Given the description of an element on the screen output the (x, y) to click on. 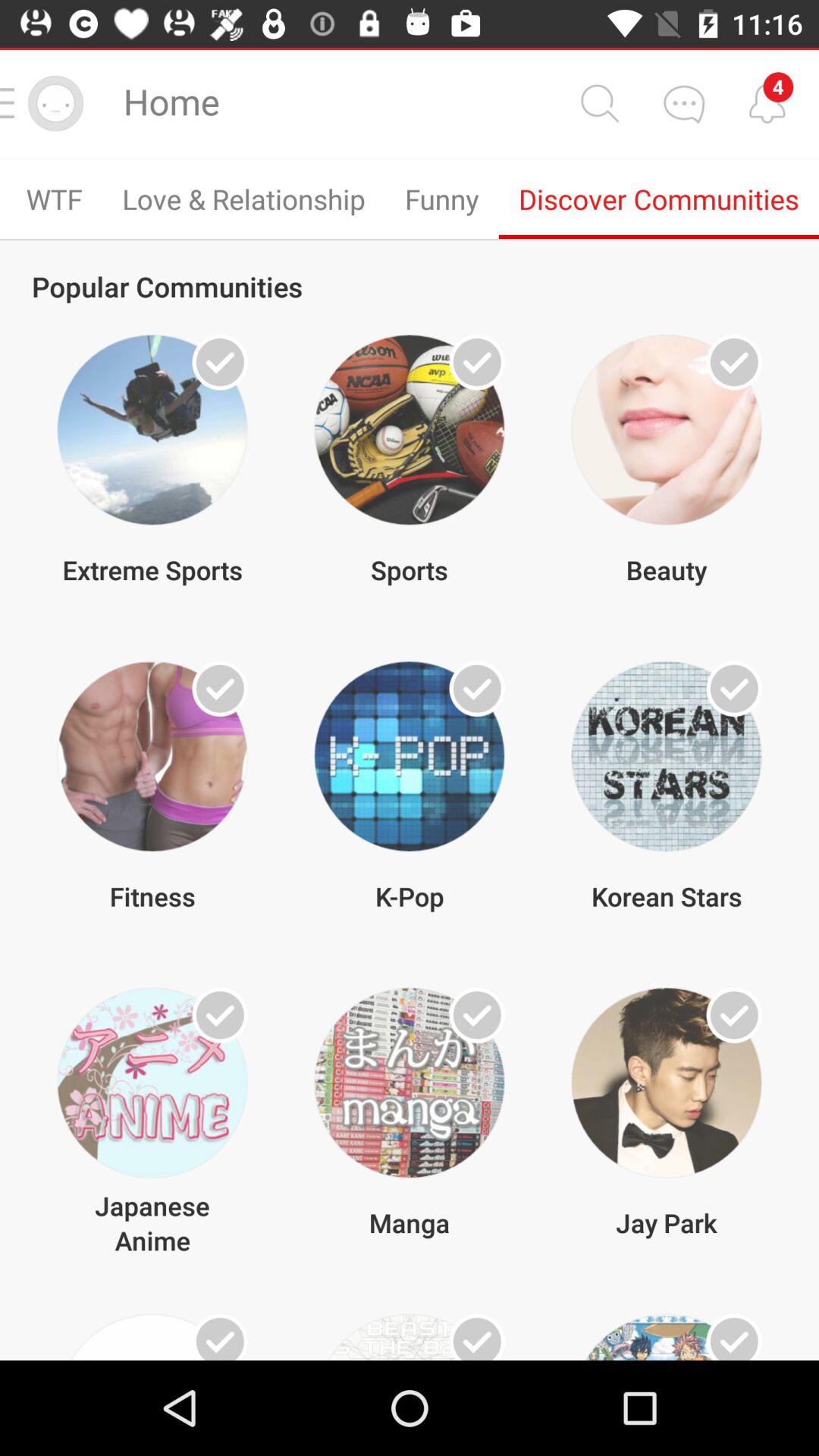
tap notification optiion (766, 103)
